Given the description of an element on the screen output the (x, y) to click on. 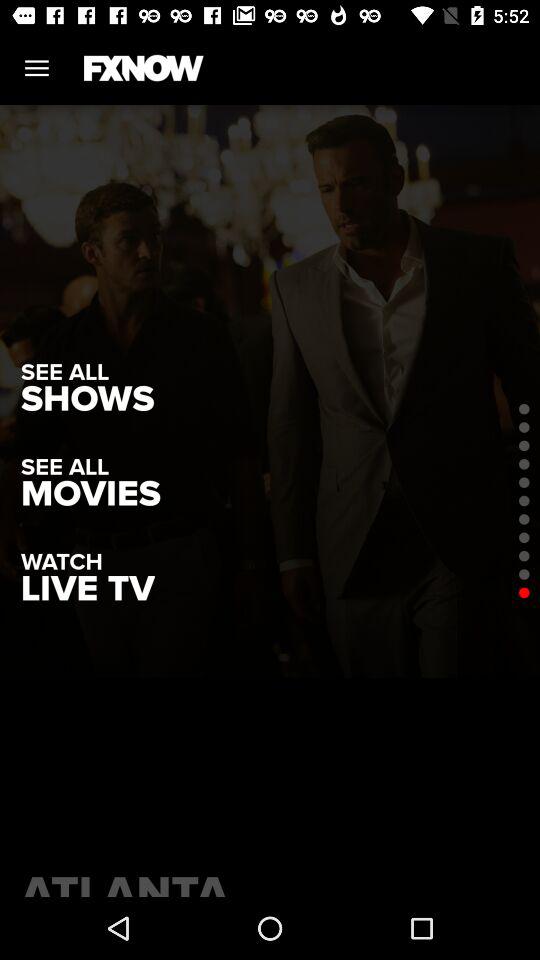
choose item below the live tv item (270, 880)
